Given the description of an element on the screen output the (x, y) to click on. 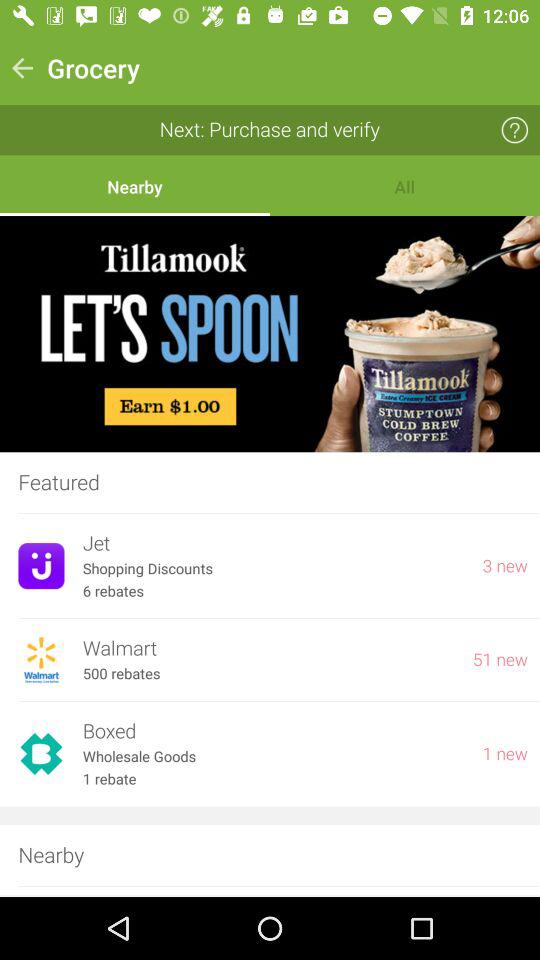
open item next to the 3 new (273, 543)
